Given the description of an element on the screen output the (x, y) to click on. 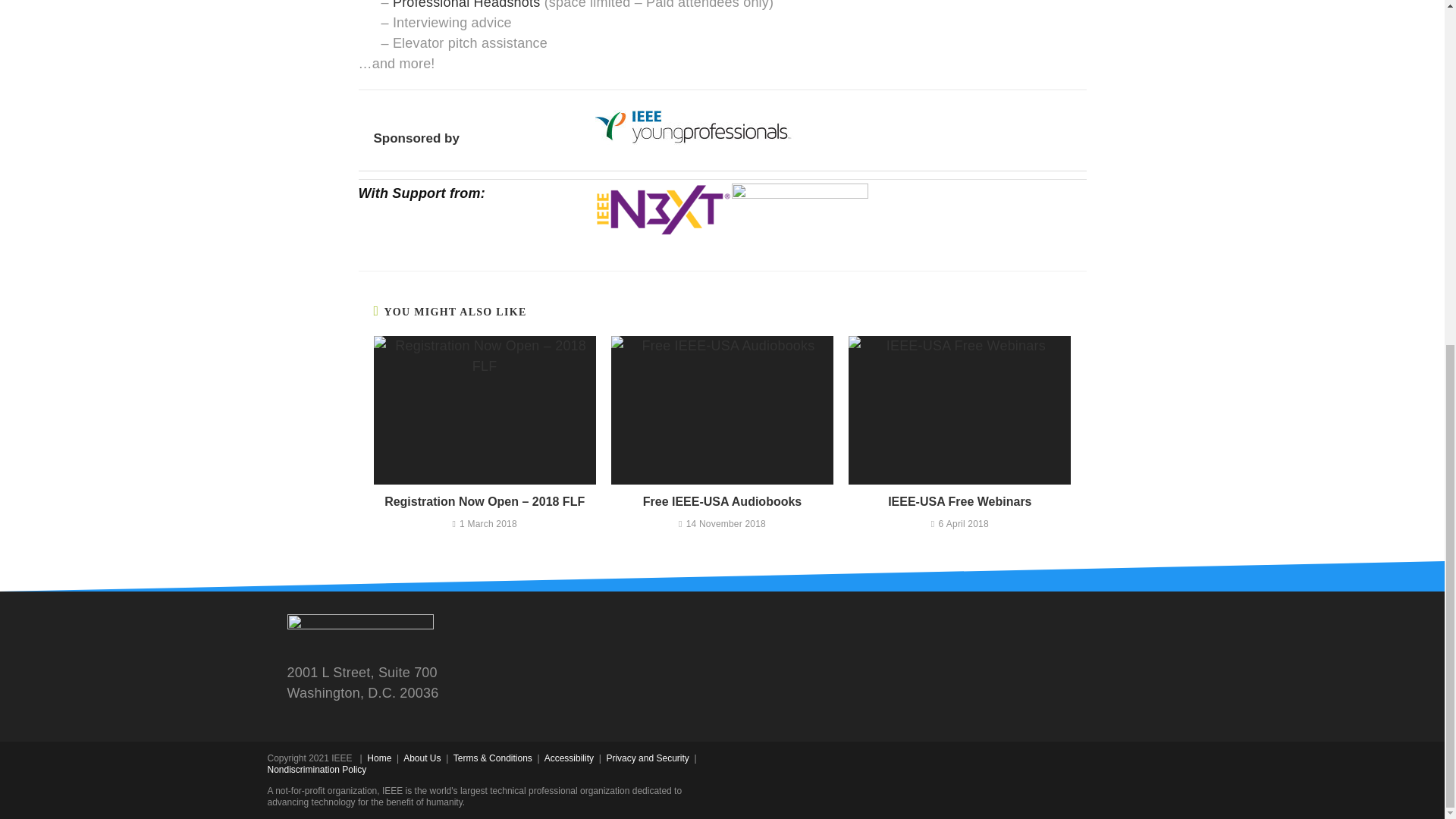
Professional Headshots (466, 4)
Accessibility (569, 757)
Home (378, 757)
IEEE-USA Free Webinars (959, 501)
Free IEEE-USA Audiobooks (722, 501)
IEEE-USA Free Webinars (959, 501)
About Us (422, 757)
Free IEEE-USA Audiobooks (722, 501)
